Given the description of an element on the screen output the (x, y) to click on. 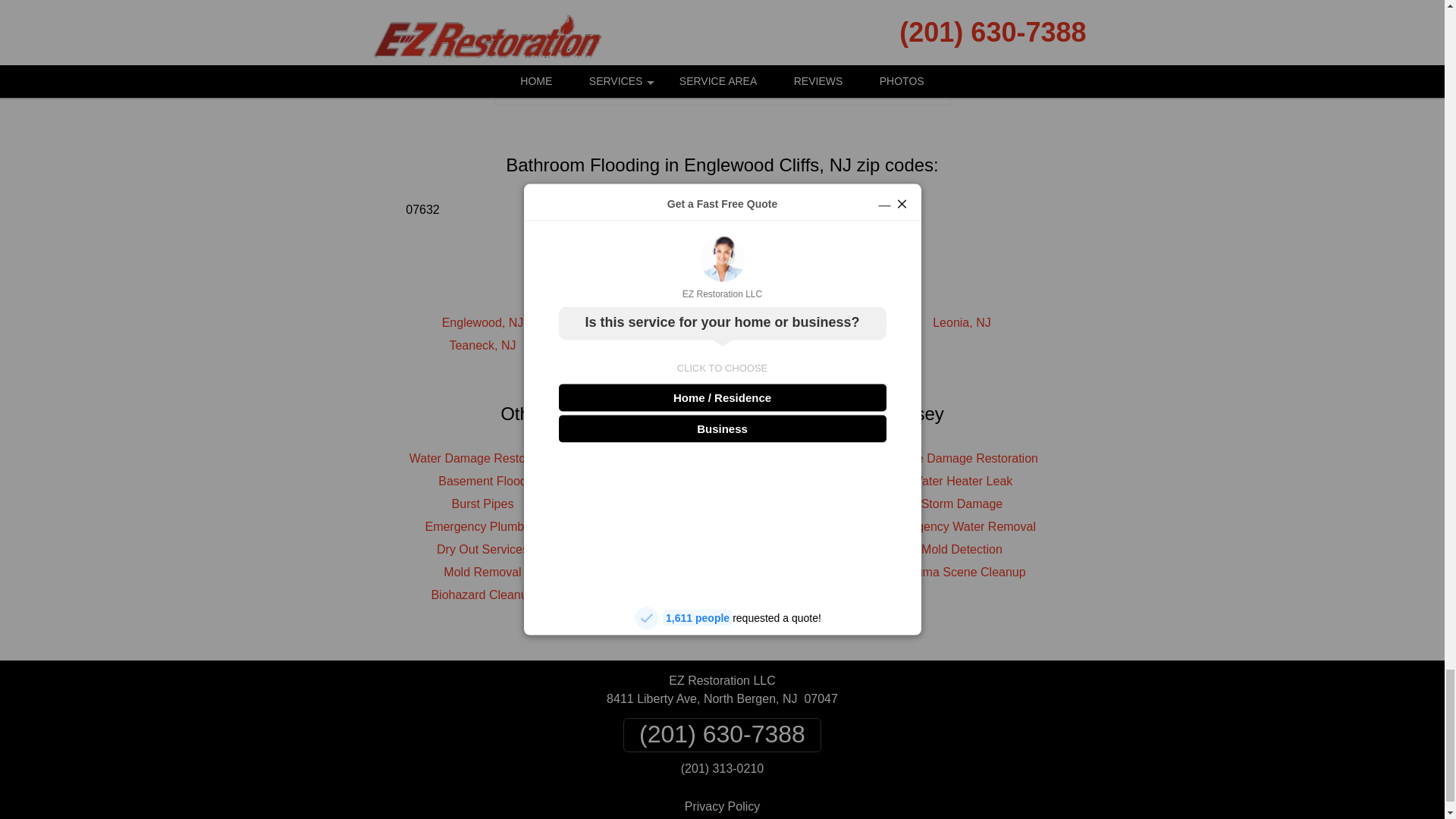
Fort Lee, NJ (721, 322)
Houzz (804, 77)
Teaneck, NJ (481, 345)
Facebook (638, 77)
Englewood, NJ (483, 322)
Google (694, 77)
Yelp (749, 77)
Leonia, NJ (962, 322)
